Given the description of an element on the screen output the (x, y) to click on. 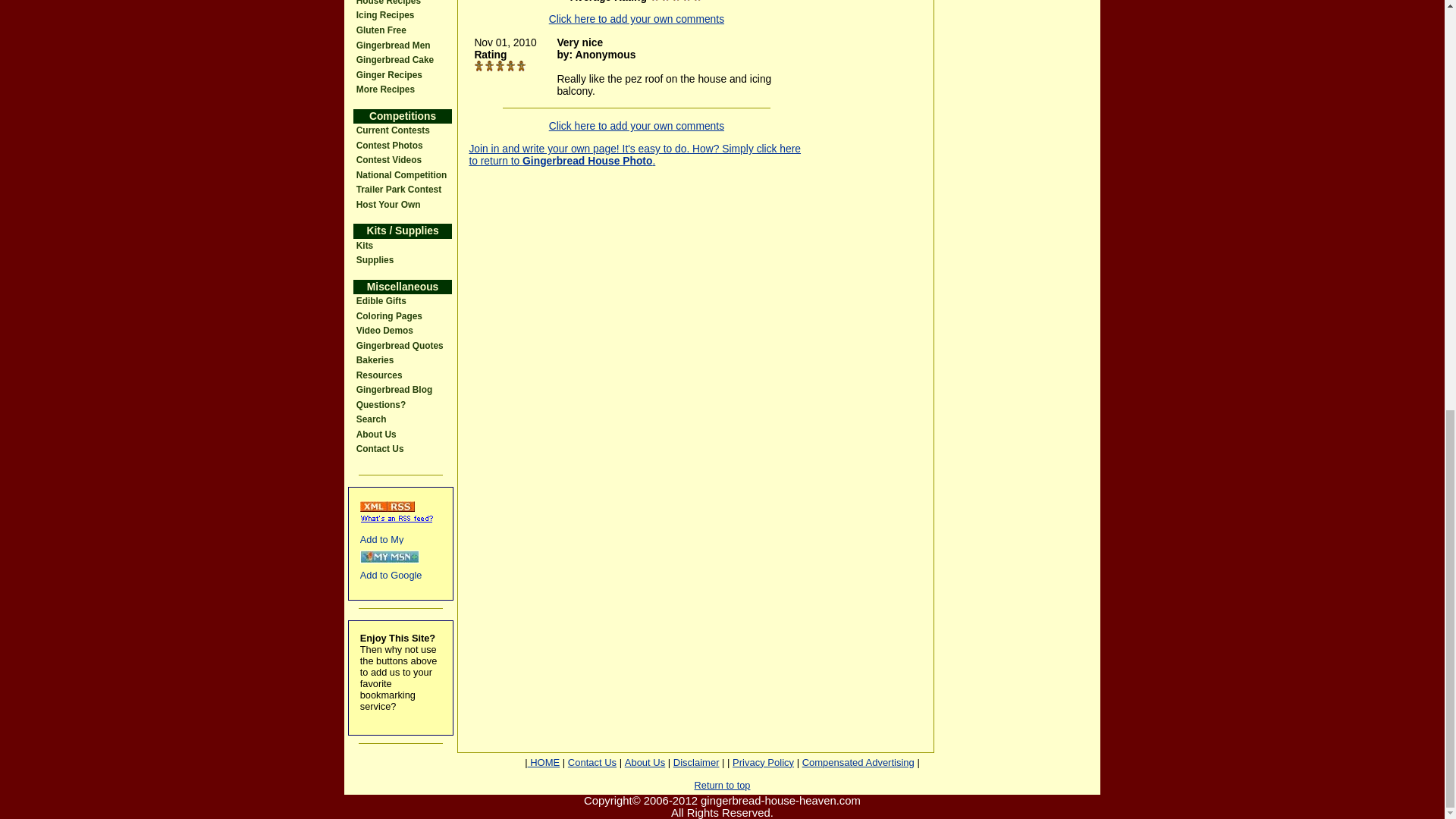
Click here to add your own comments (635, 125)
Click here to add your own comments (635, 19)
